Given the description of an element on the screen output the (x, y) to click on. 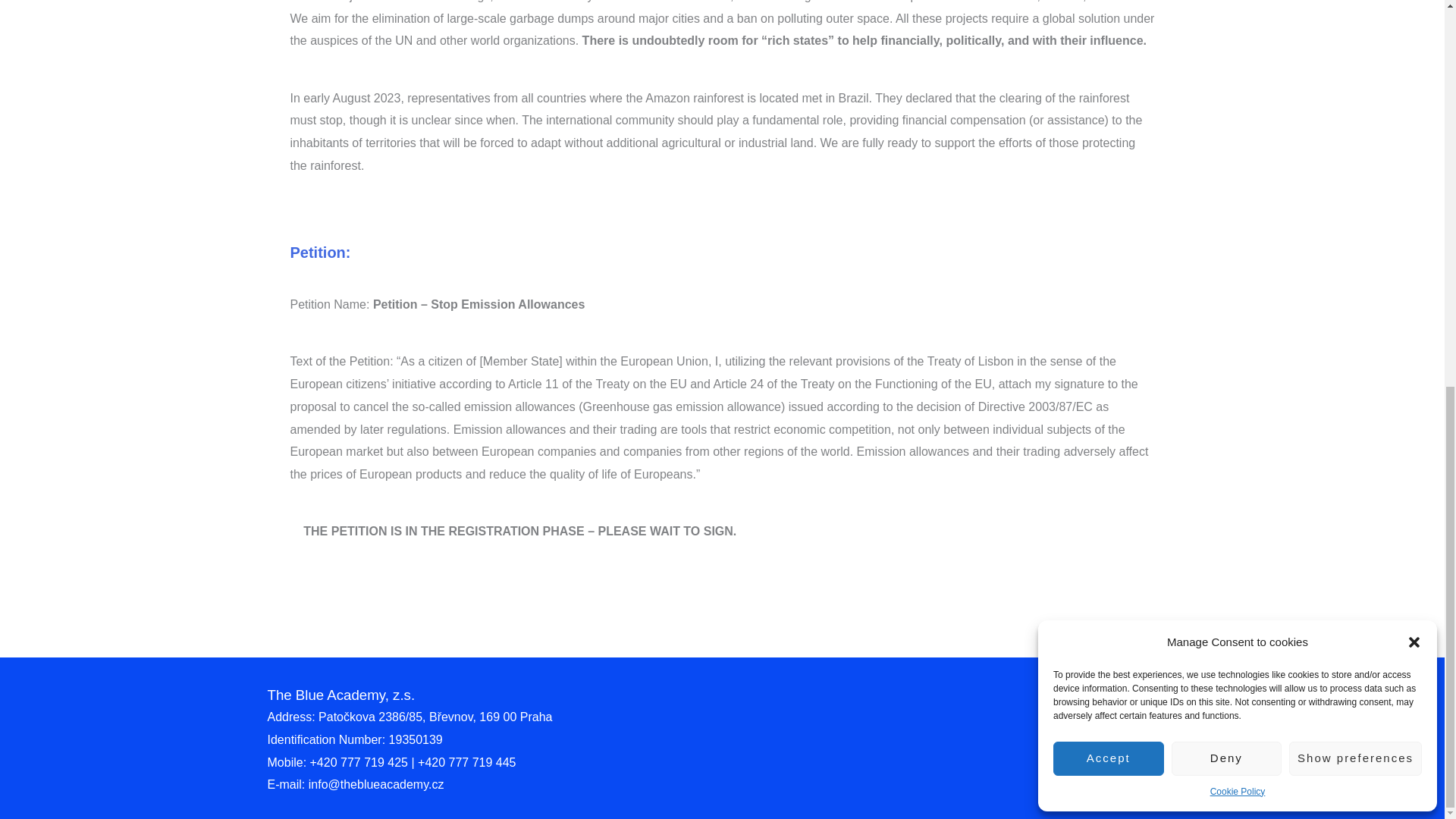
Show preferences (1355, 27)
Cookie Policy (1237, 60)
Deny (1227, 27)
Petition: (319, 252)
Accept (1107, 27)
